Given the description of an element on the screen output the (x, y) to click on. 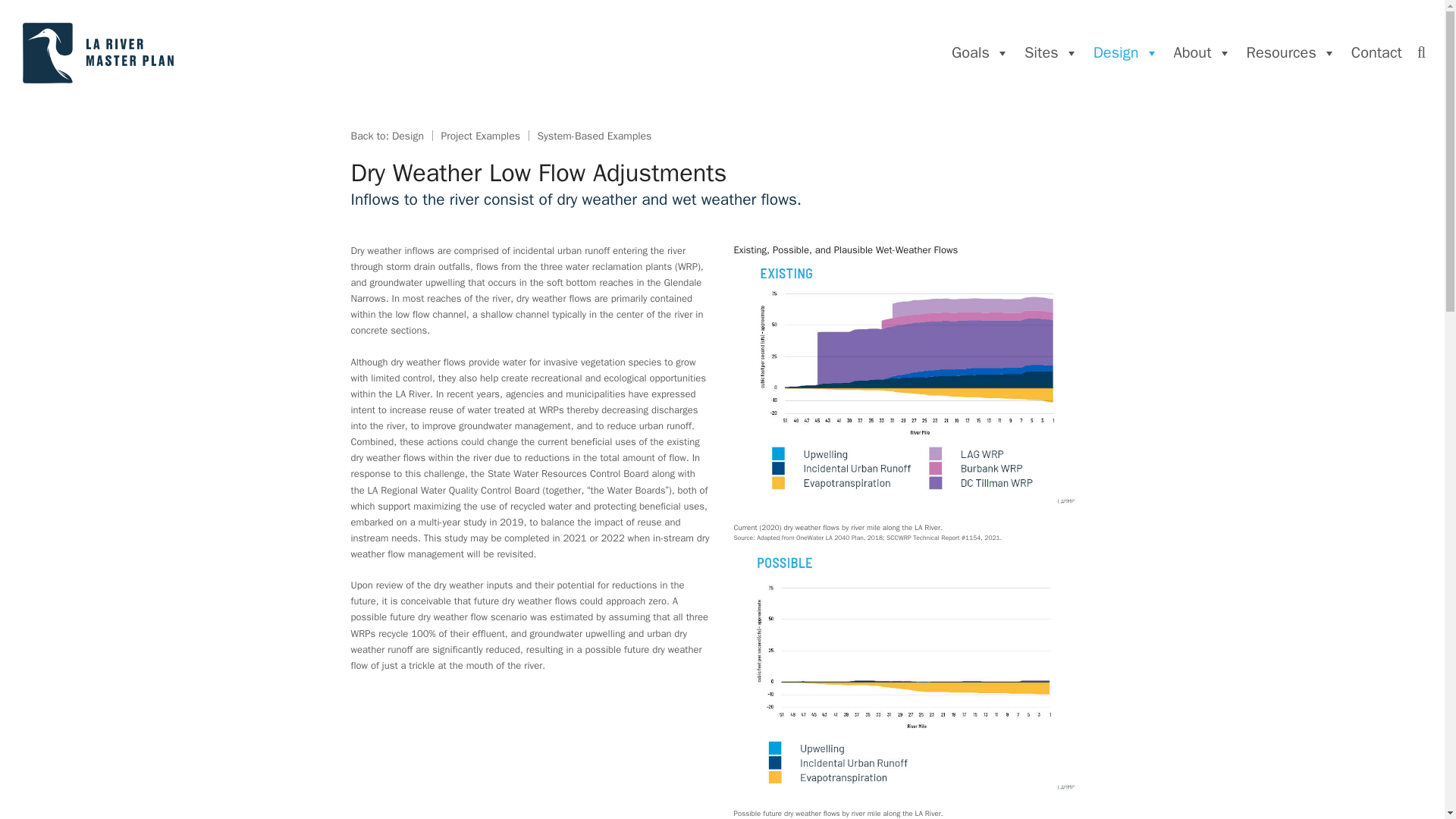
Goals (979, 53)
Sites (1051, 53)
Design (1126, 53)
